Given the description of an element on the screen output the (x, y) to click on. 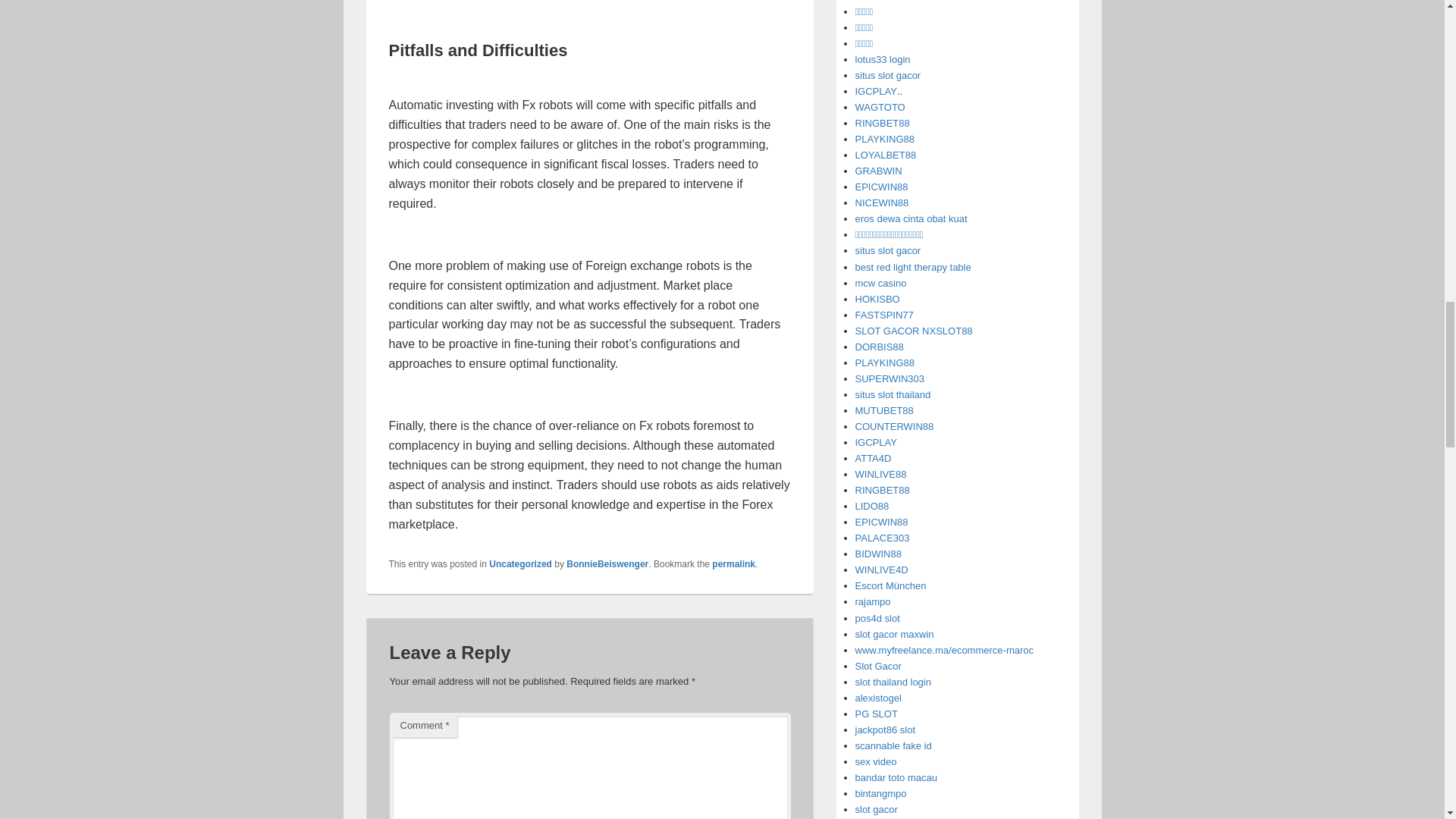
permalink (733, 563)
BonnieBeiswenger (606, 563)
Uncategorized (520, 563)
